Given the description of an element on the screen output the (x, y) to click on. 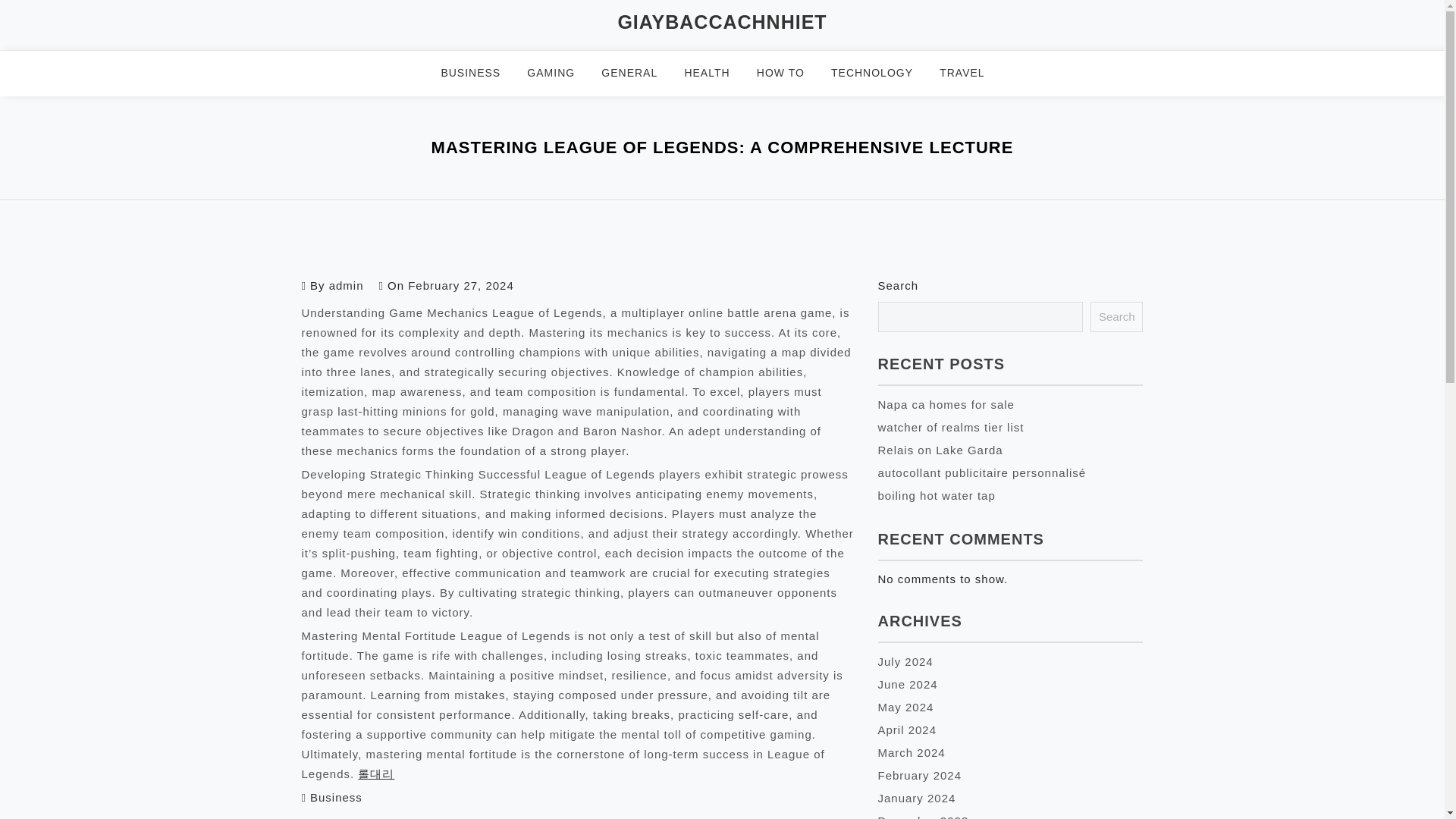
April 2024 (907, 729)
Napa ca homes for sale (945, 404)
admin (346, 285)
TECHNOLOGY (881, 73)
boiling hot water tap (936, 495)
March 2024 (910, 752)
February 27, 2024 (460, 285)
February 2024 (919, 775)
January 2024 (916, 797)
May 2024 (905, 707)
December 2023 (923, 816)
BUSINESS (480, 73)
TRAVEL (971, 73)
GENERAL (639, 73)
GAMING (560, 73)
